Given the description of an element on the screen output the (x, y) to click on. 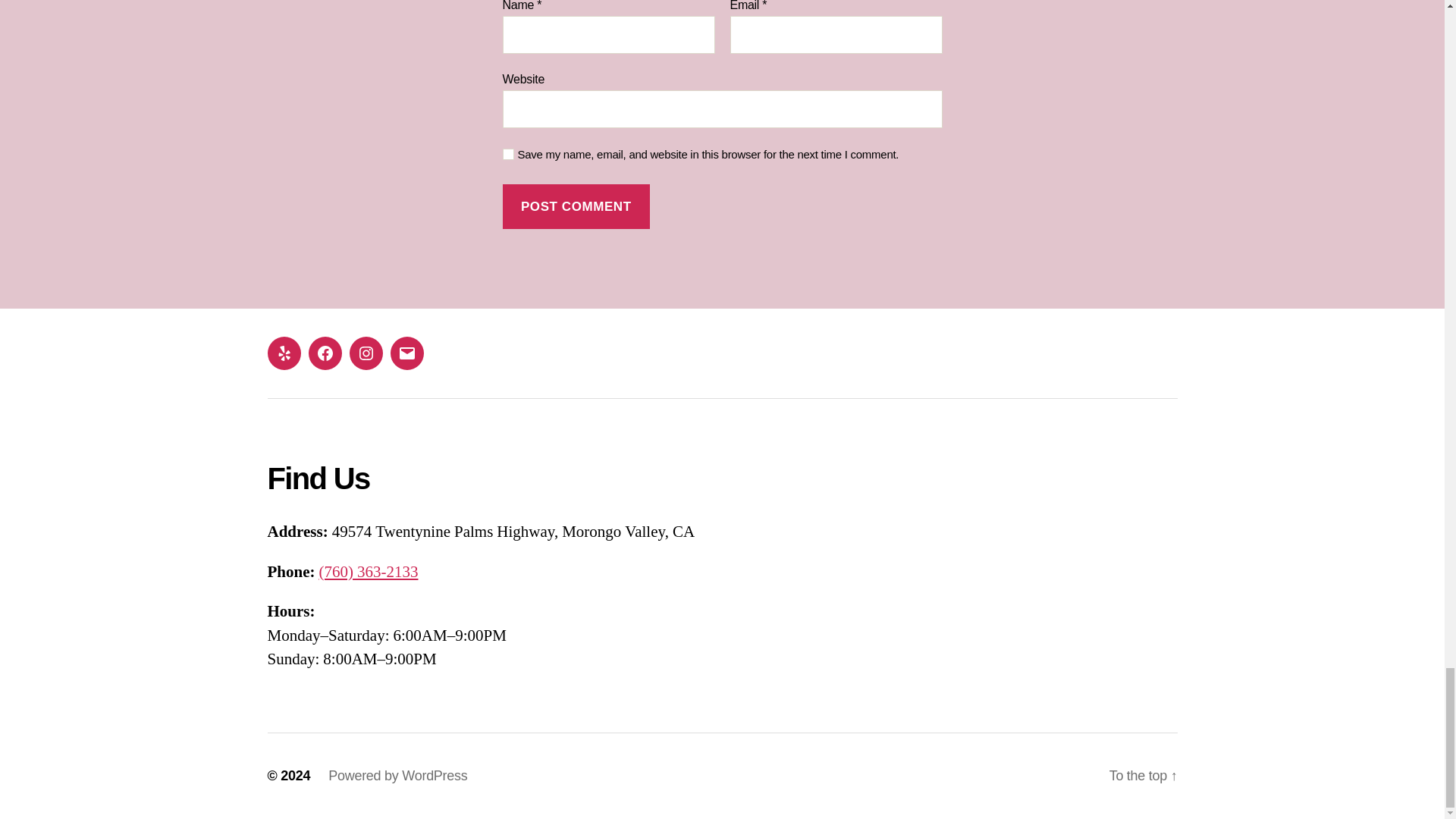
Powered by WordPress (398, 775)
Post Comment (575, 206)
Facebook (323, 353)
Instagram (365, 353)
Yelp (282, 353)
yes (507, 153)
Post Comment (575, 206)
Email (406, 353)
